Given the description of an element on the screen output the (x, y) to click on. 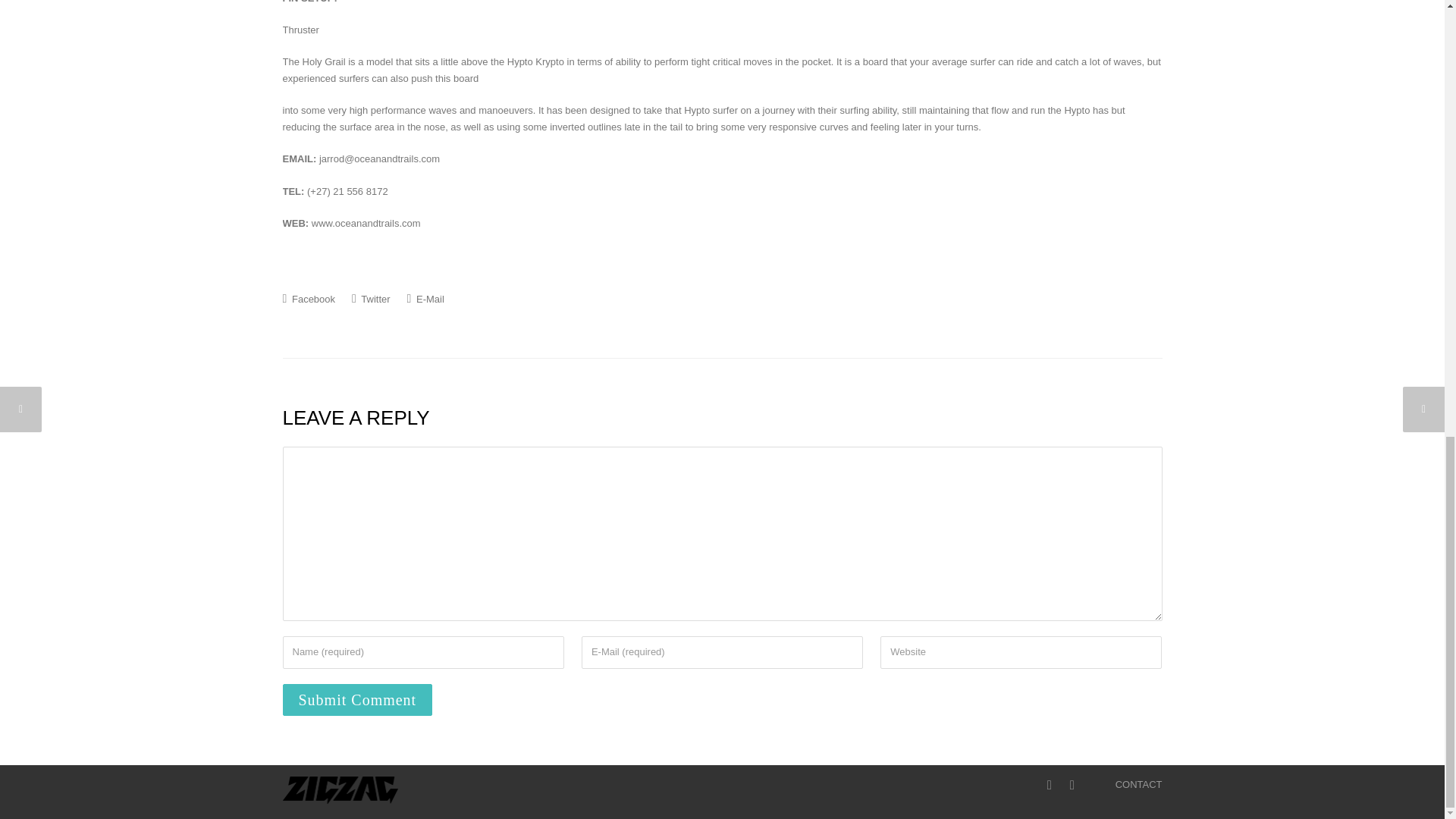
Twitter (371, 298)
E-Mail (425, 298)
Website (1020, 652)
CONTACT (1138, 784)
Submit Comment (357, 699)
Submit Comment (357, 699)
Facebook (308, 298)
